Given the description of an element on the screen output the (x, y) to click on. 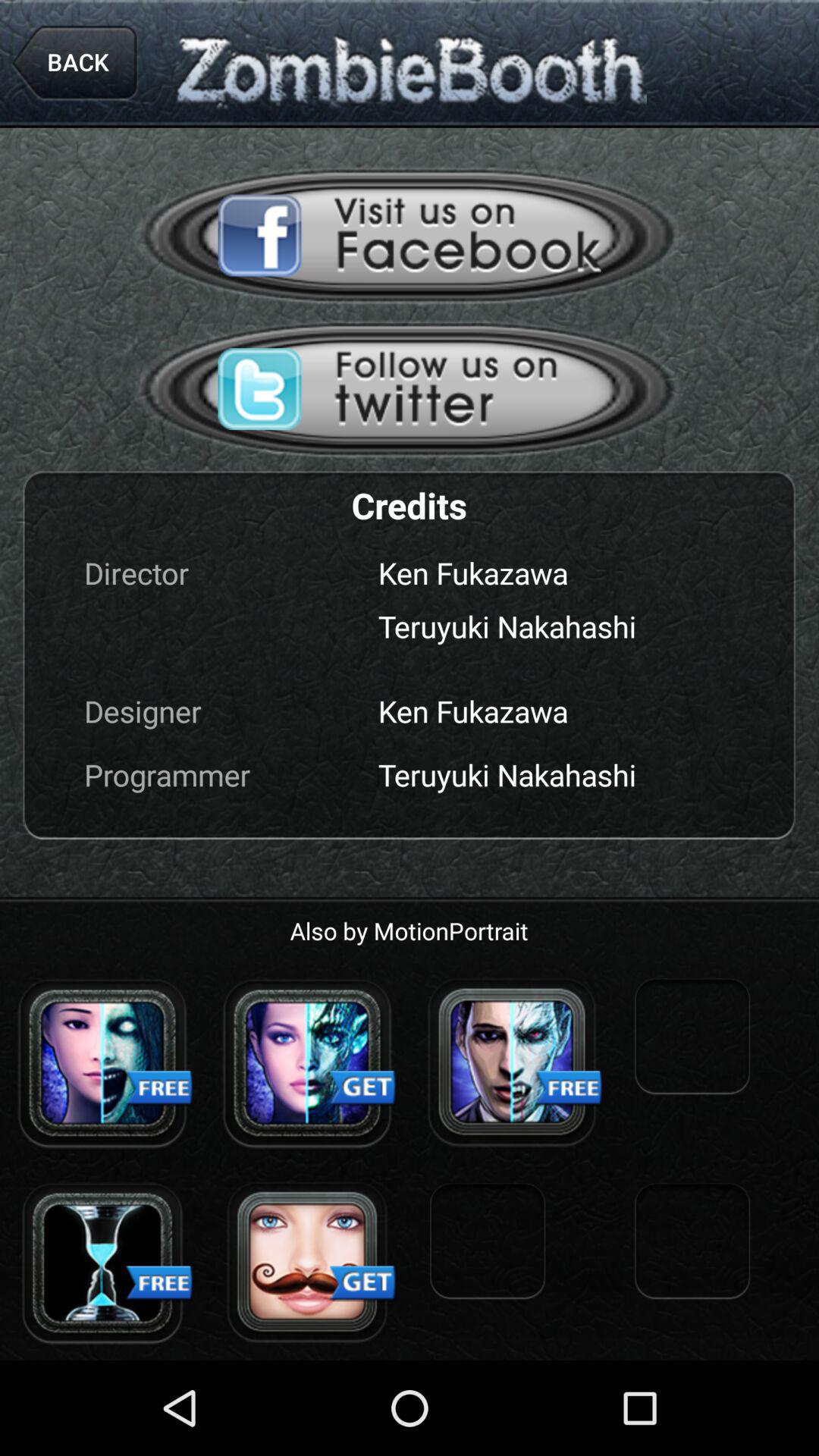
go to link in advertisement (306, 1262)
